Given the description of an element on the screen output the (x, y) to click on. 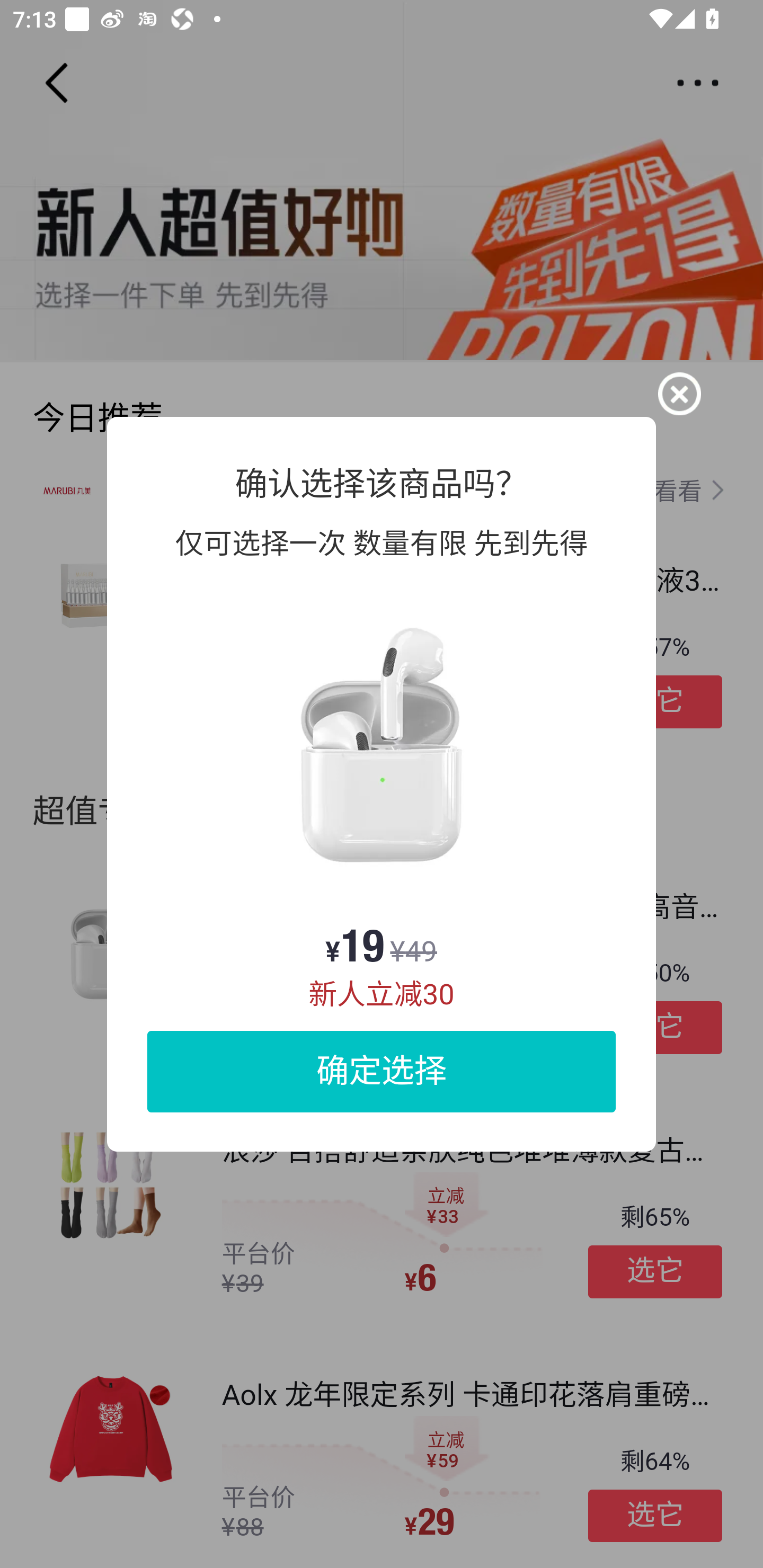
确定选择 (381, 1070)
